Given the description of an element on the screen output the (x, y) to click on. 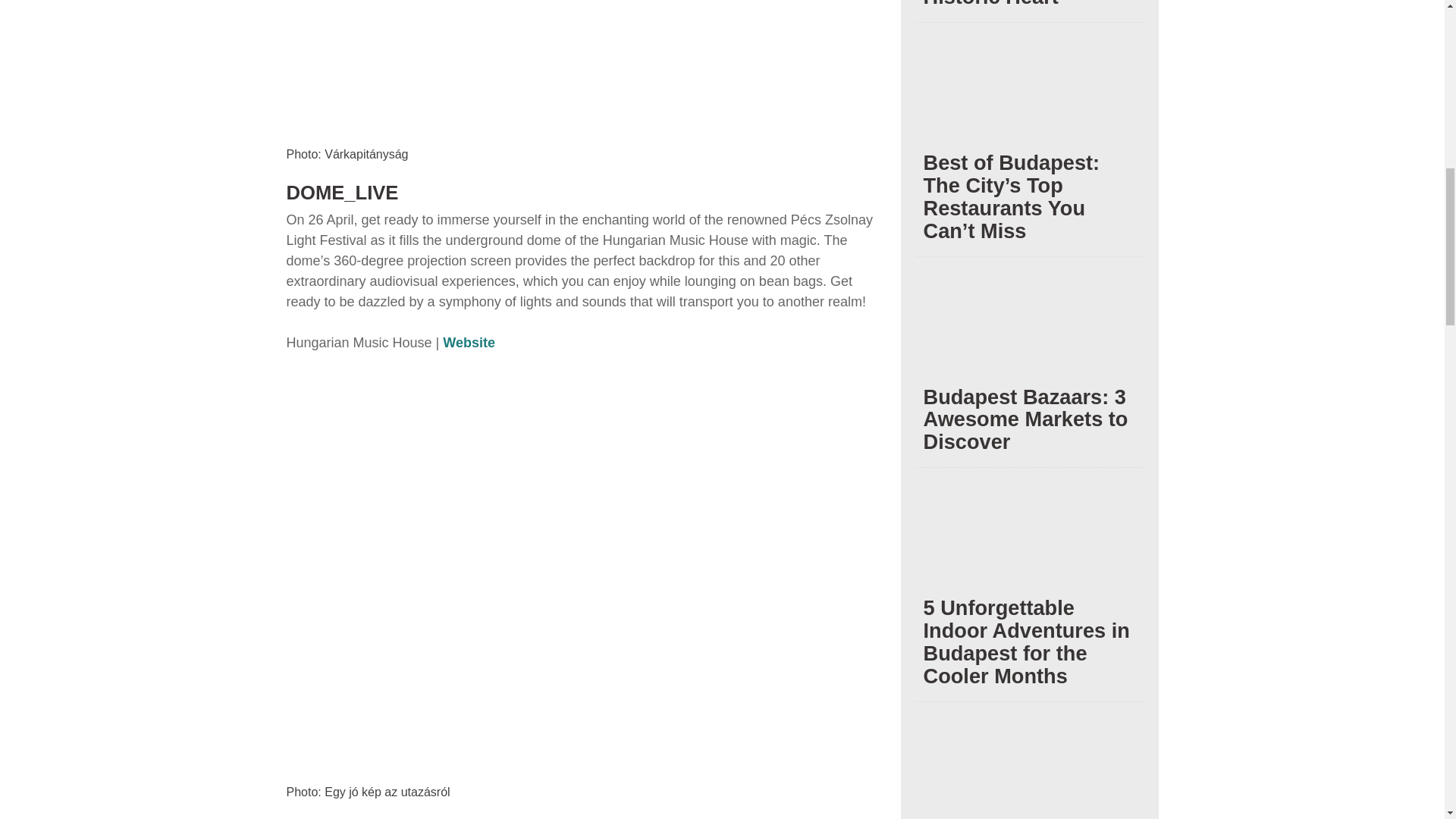
Budapest Bazaars: 3 Awesome Markets to Discover (1029, 335)
Website (468, 342)
